Given the description of an element on the screen output the (x, y) to click on. 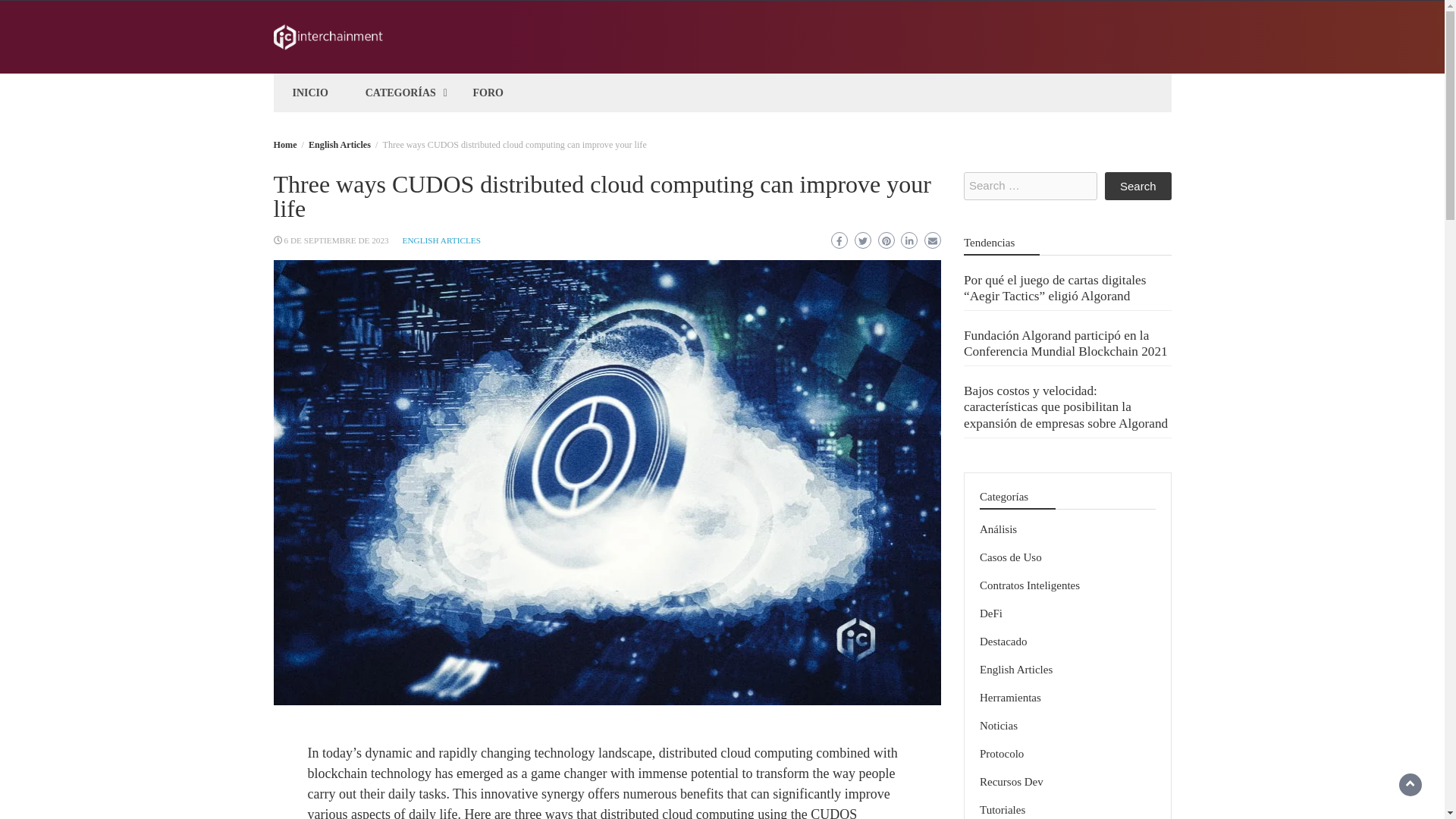
Home (285, 144)
INICIO (310, 92)
6 DE SEPTIEMBRE DE 2023 (335, 239)
Search for: (1030, 185)
Search (1138, 185)
ENGLISH ARTICLES (441, 239)
Search (1138, 185)
FORO (488, 92)
English Articles (339, 144)
Search (1138, 185)
